Given the description of an element on the screen output the (x, y) to click on. 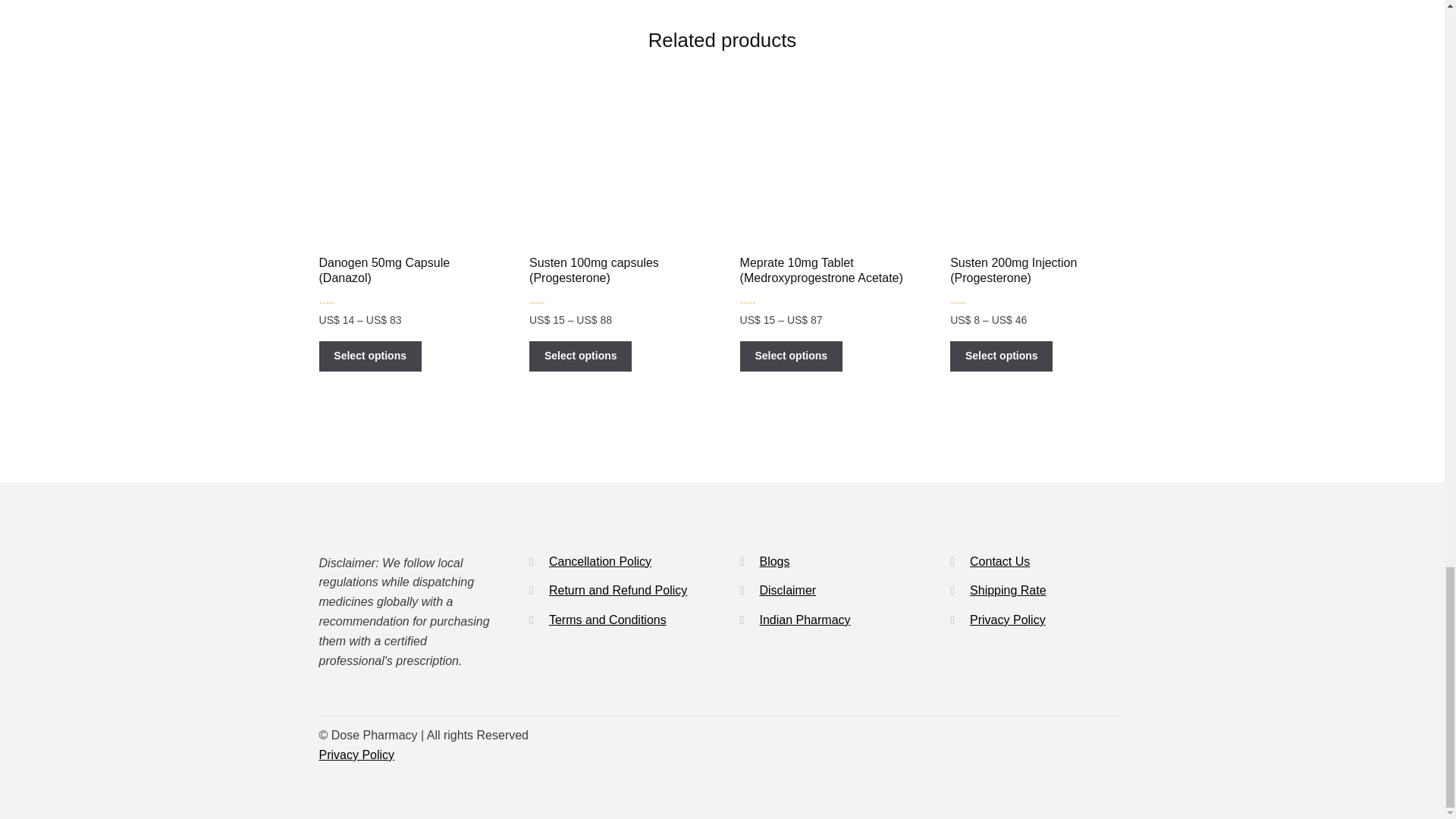
Select options (370, 356)
